Given the description of an element on the screen output the (x, y) to click on. 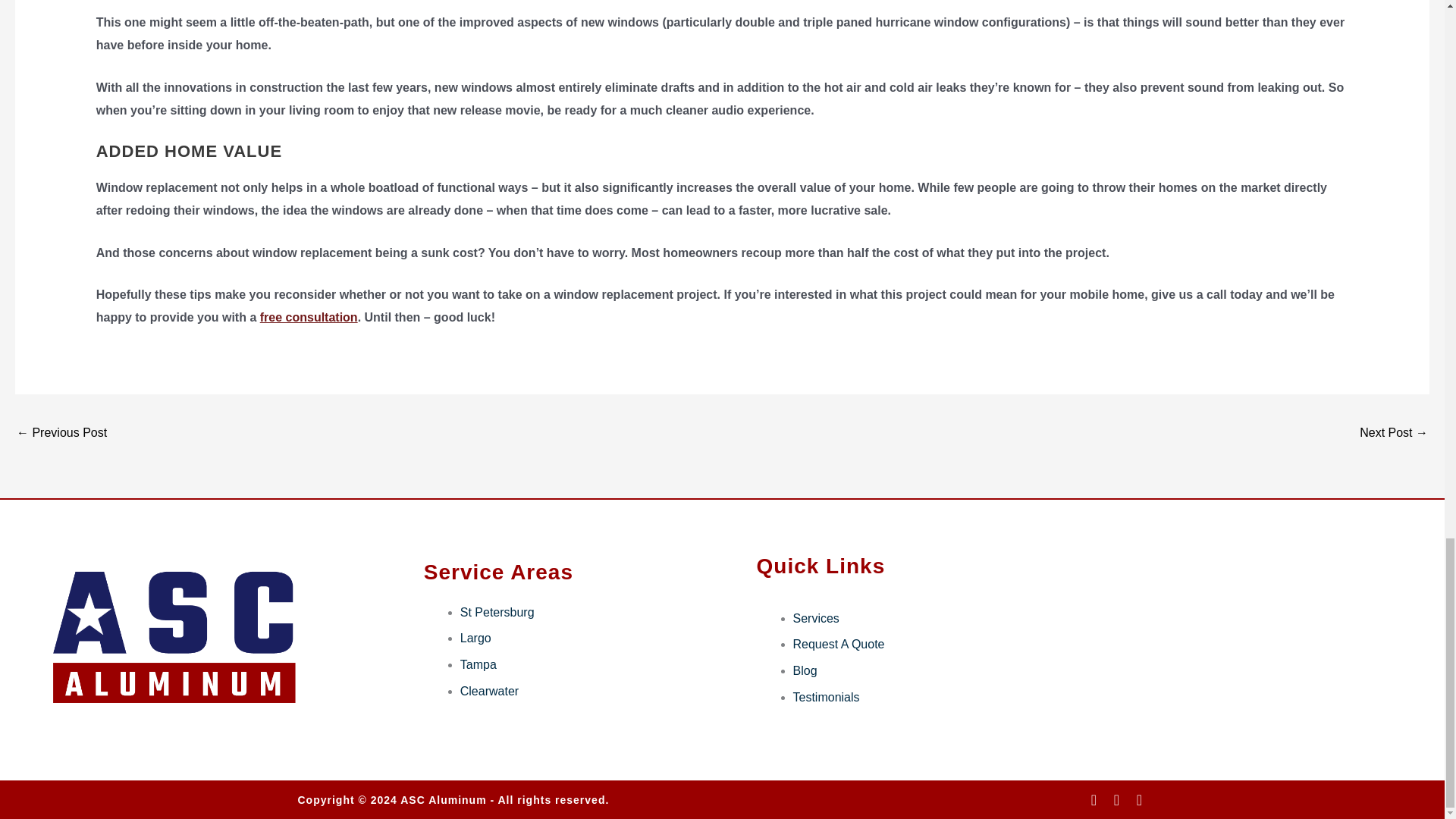
How to tell if you need new windows (61, 433)
The basics of hurricane shutters (1393, 433)
